Given the description of an element on the screen output the (x, y) to click on. 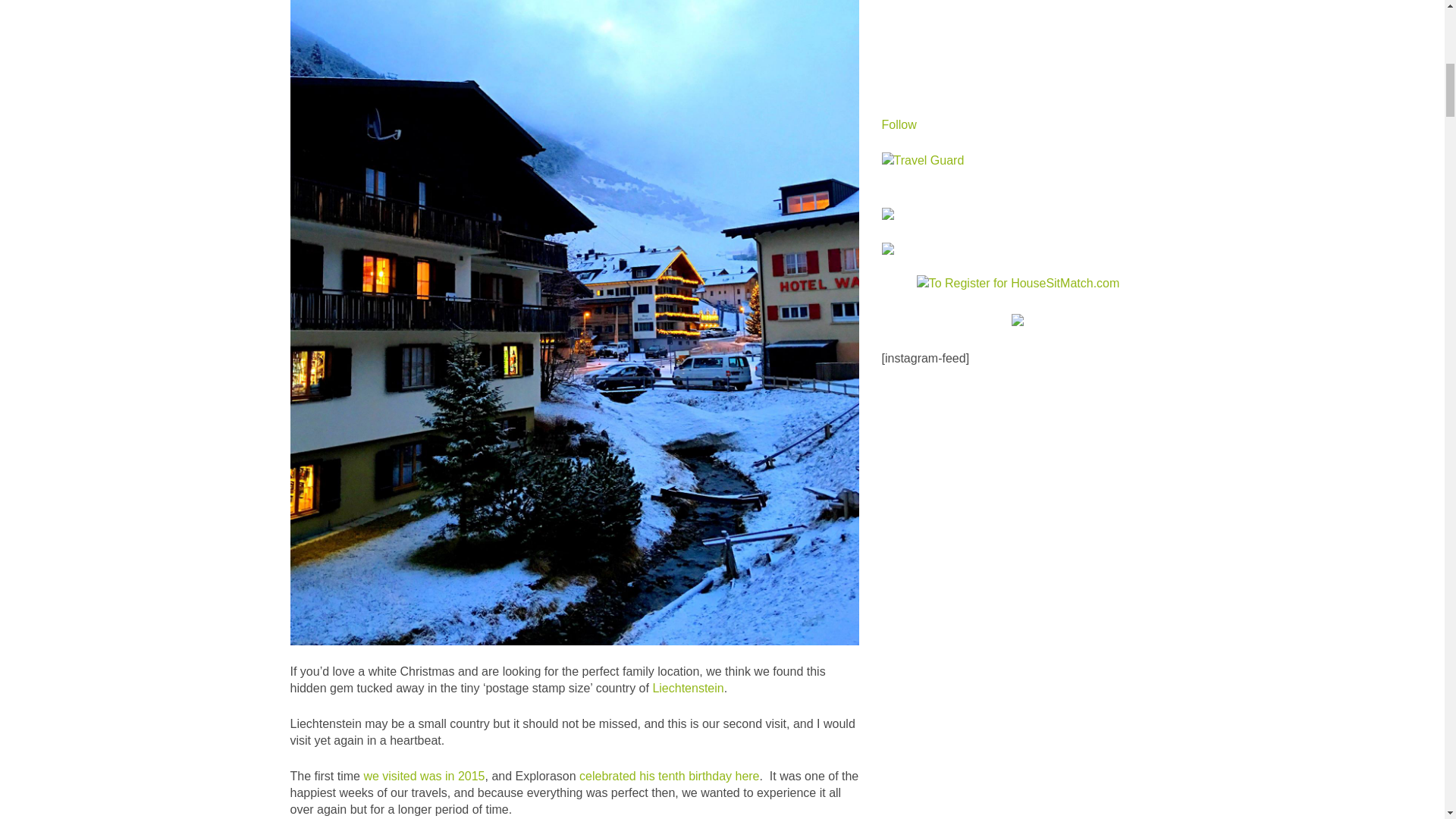
Liechtenstein (687, 687)
To Register for HouseSitMatch.com (1018, 282)
Find out more about Travel Guard (921, 160)
celebrated his tenth birthday here (668, 775)
we visited was in 2015 (423, 775)
